Given the description of an element on the screen output the (x, y) to click on. 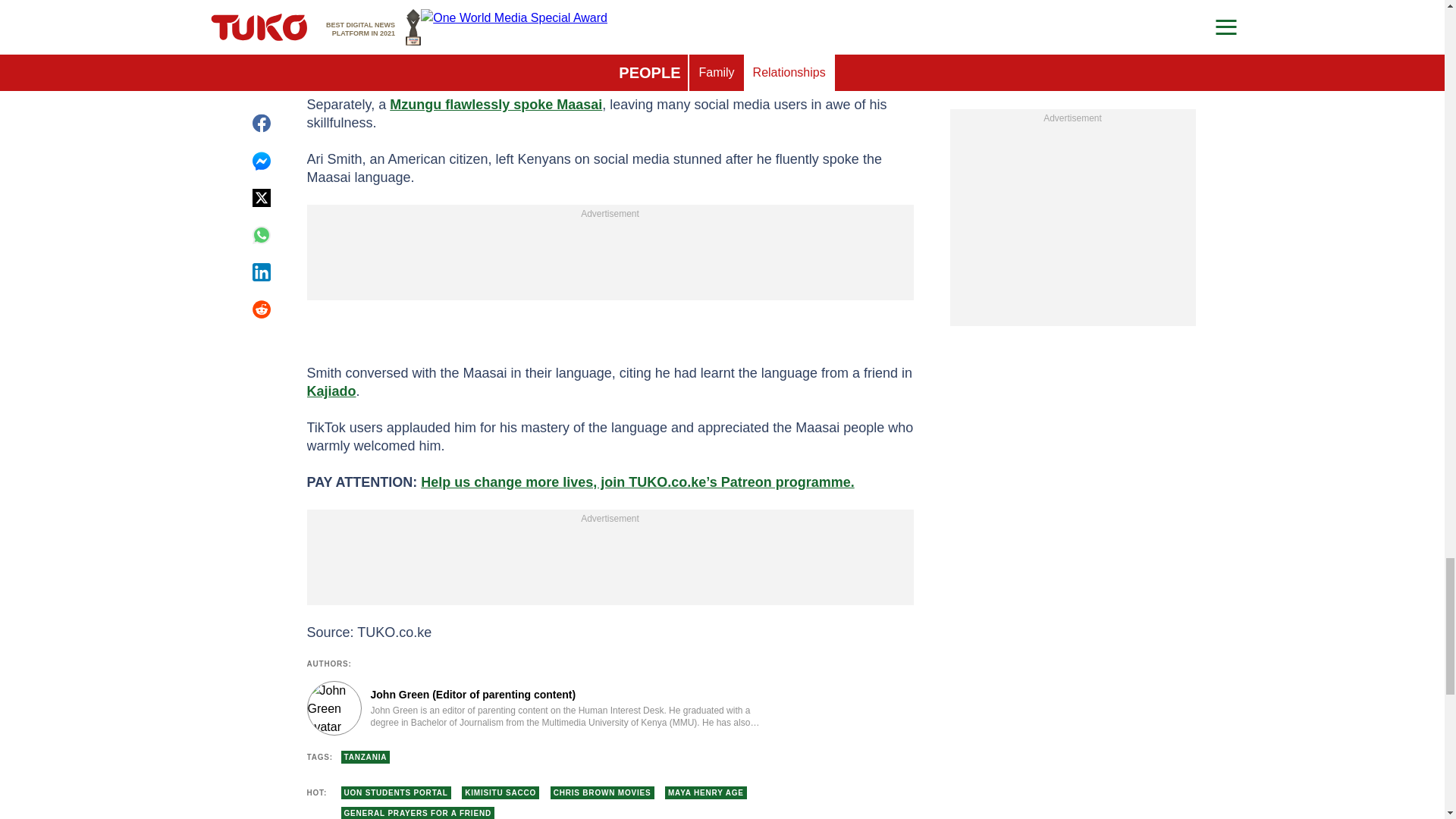
Author page (533, 707)
